Given the description of an element on the screen output the (x, y) to click on. 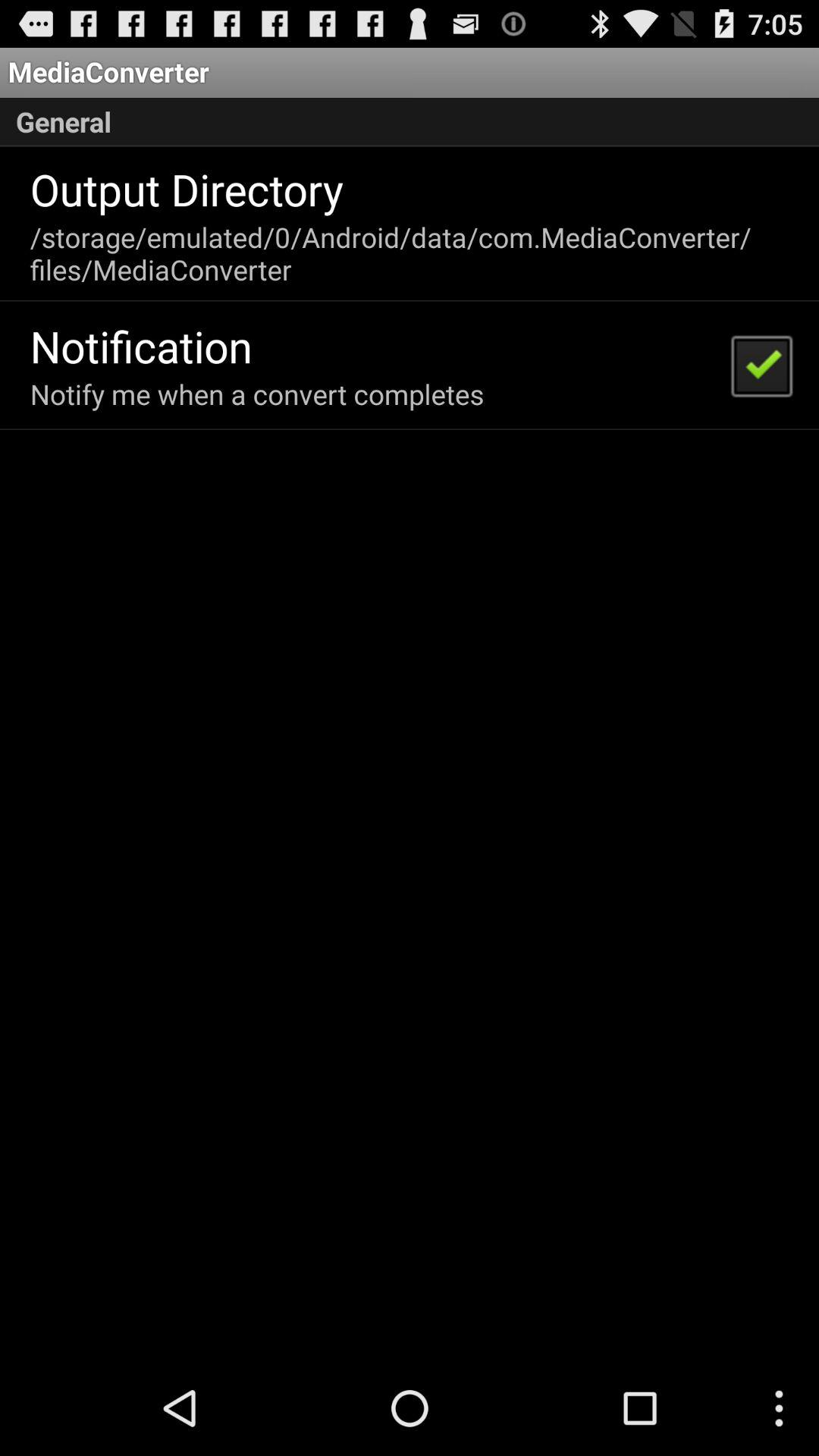
open the item to the right of the notify me when icon (761, 364)
